Given the description of an element on the screen output the (x, y) to click on. 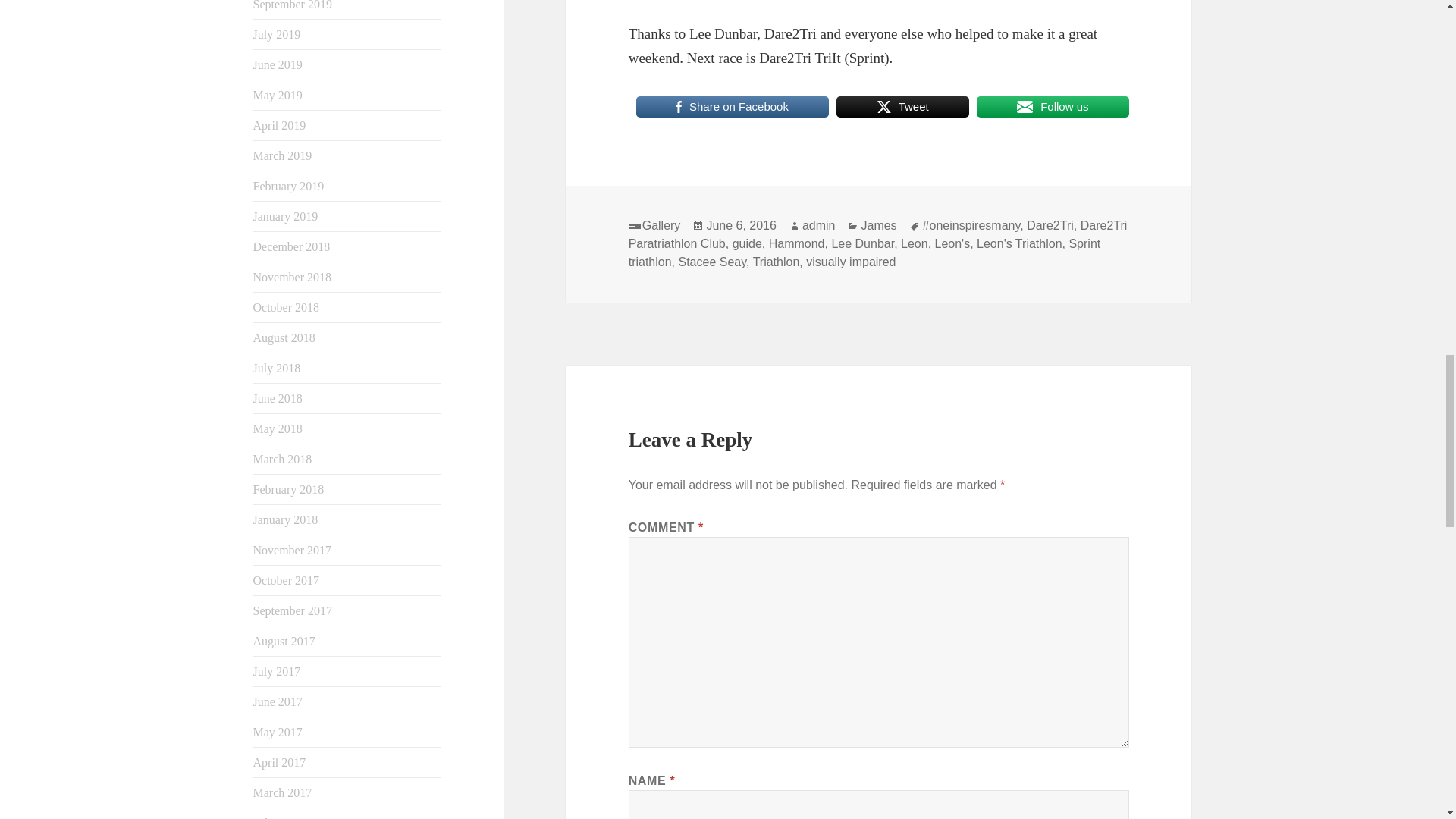
May 2019 (277, 94)
September 2019 (292, 5)
June 2019 (277, 64)
July 2019 (277, 33)
